Given the description of an element on the screen output the (x, y) to click on. 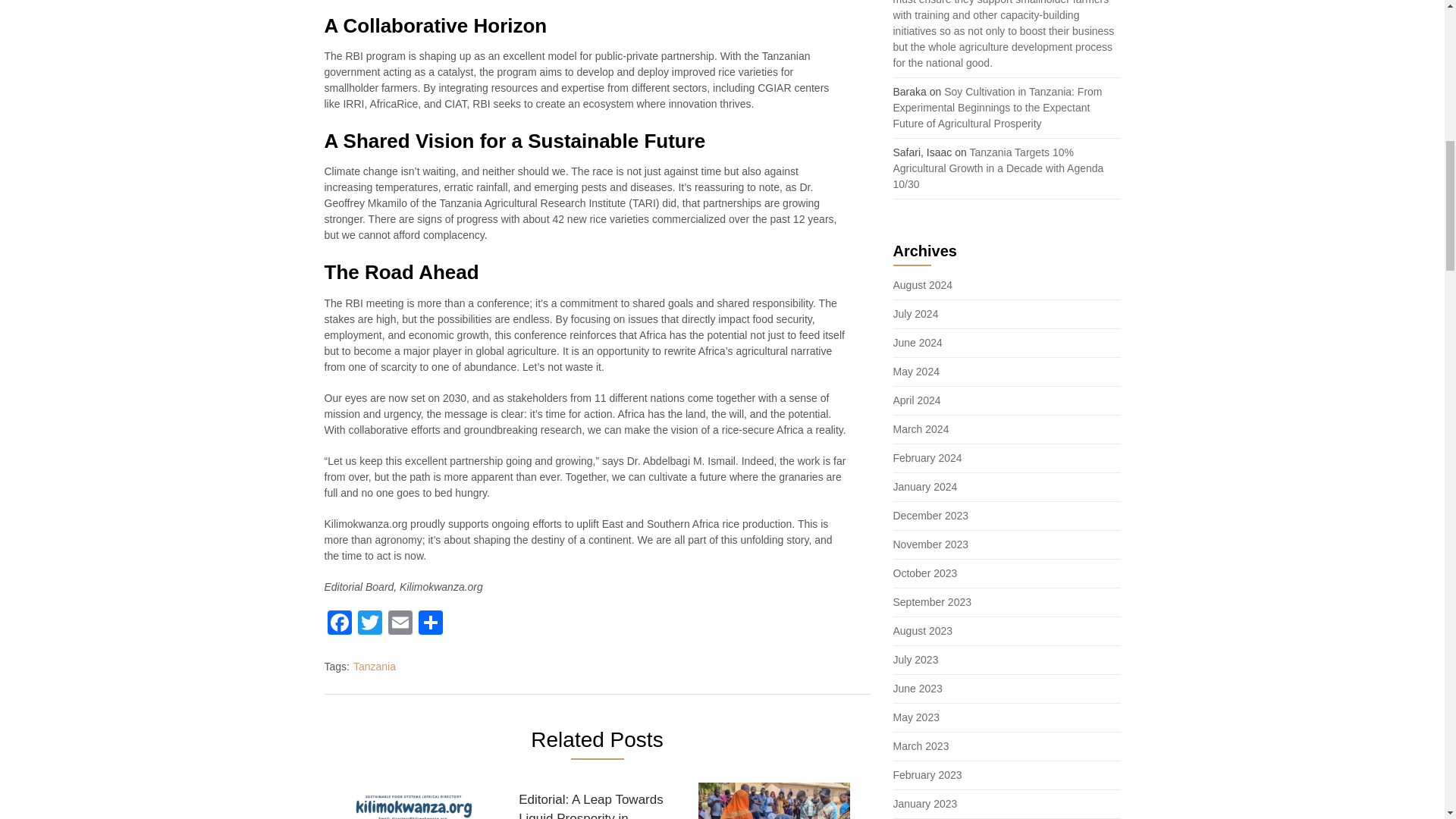
Tanzania (374, 666)
Editorial: A Leap Towards Liquid Prosperity in Tanzania (593, 800)
Twitter (370, 624)
Facebook (339, 624)
Email (399, 624)
Editorial: A Leap Towards Liquid Prosperity in Tanzania (593, 800)
Facebook (339, 624)
